Given the description of an element on the screen output the (x, y) to click on. 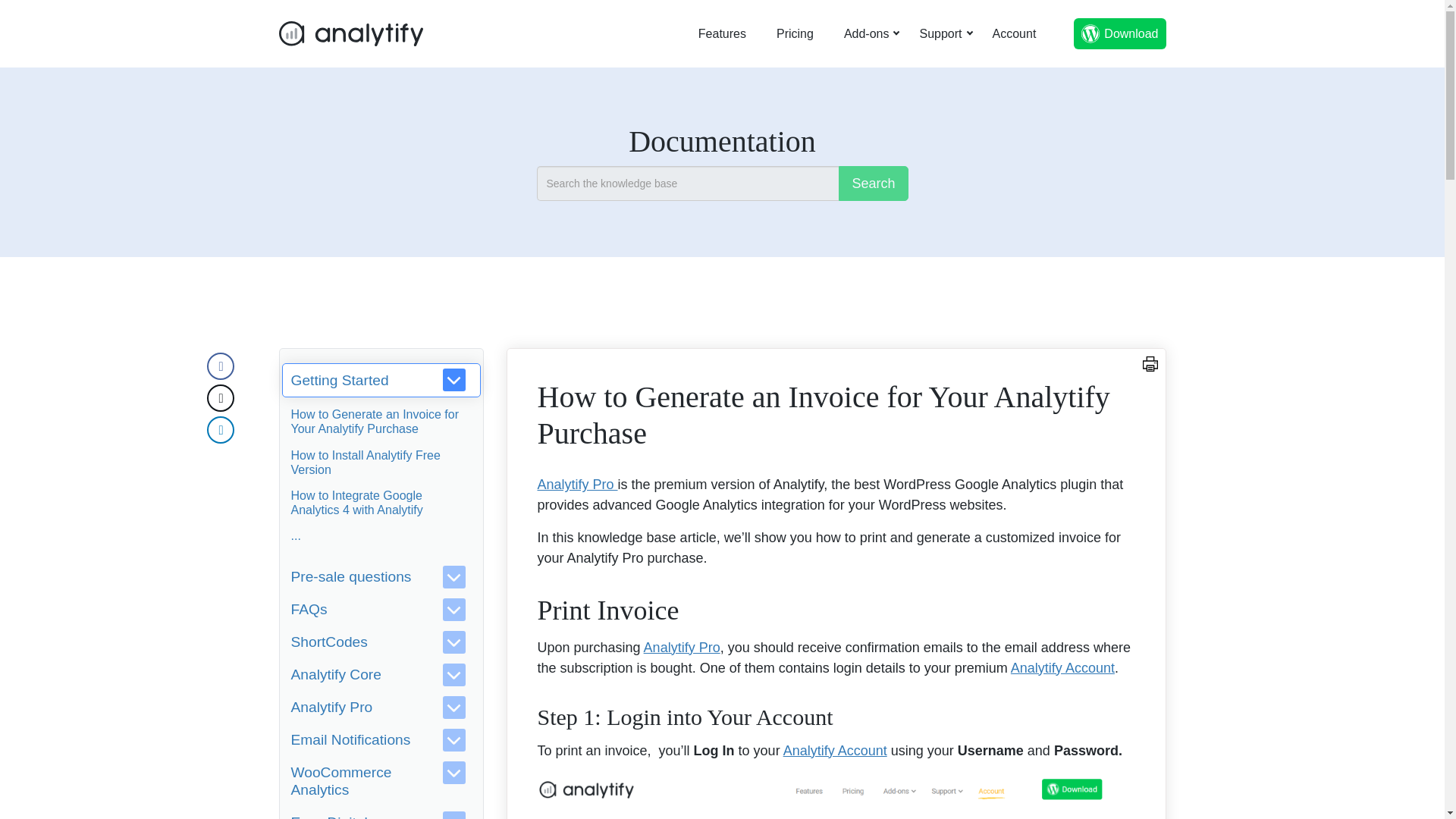
How to Generate an Invoice for Your Analytify Purchase (374, 420)
Pre-sale questions (381, 576)
Analytify Support Panel (940, 33)
Account Log In (835, 796)
Add-ons (865, 33)
Support (940, 33)
How to Integrate Google Analytics 4 with Analytify (357, 502)
Getting Started (381, 380)
Account (1014, 33)
Your Account (1014, 33)
